Given the description of an element on the screen output the (x, y) to click on. 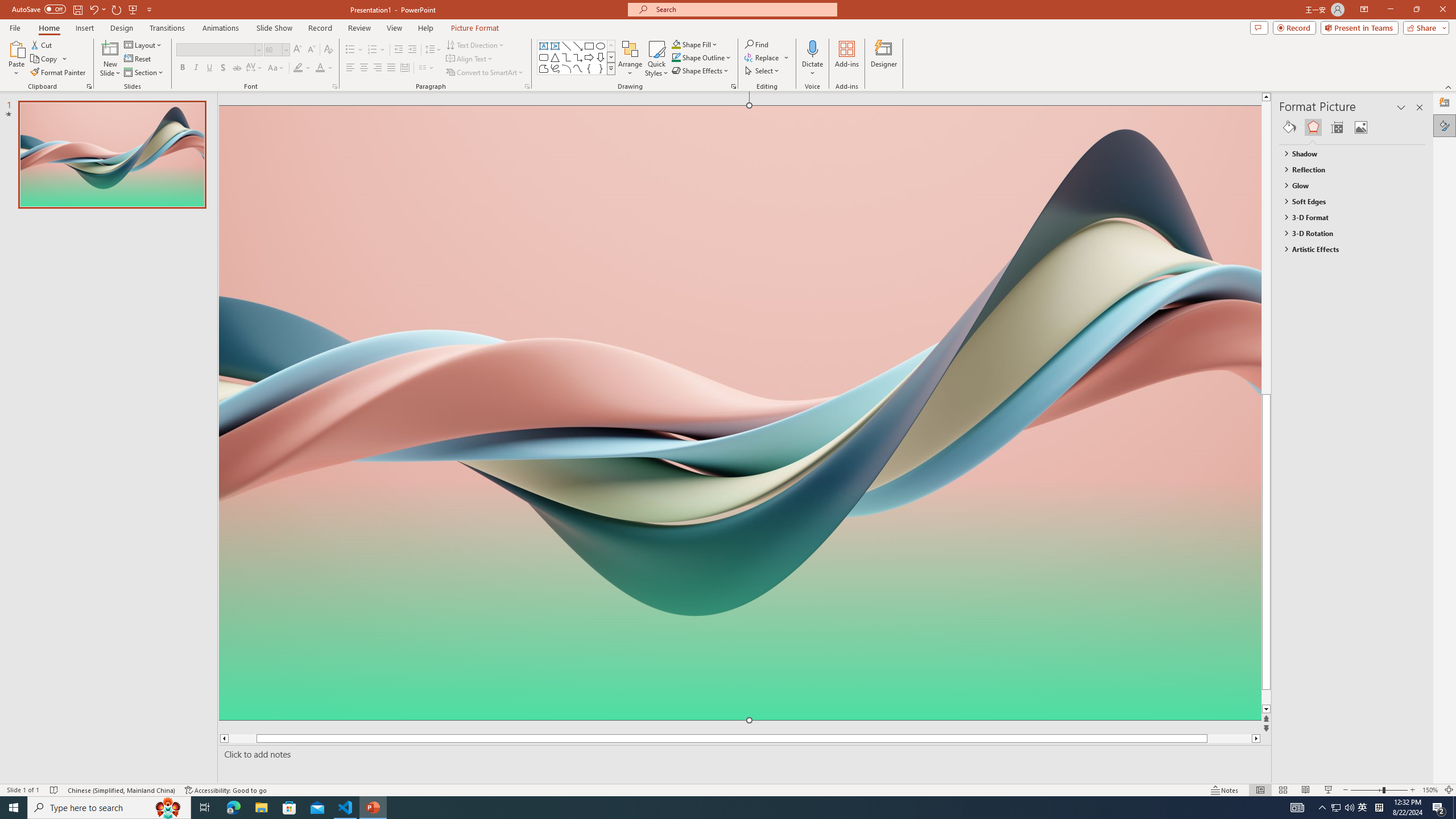
Paragraph... (526, 85)
Increase Font Size (297, 49)
Review (359, 28)
Transitions (167, 28)
Minimize (1390, 9)
Record (1294, 27)
Soft Edges (1347, 201)
Justify (390, 67)
Zoom In (1412, 790)
Numbering (372, 49)
Font Color (324, 67)
Designer (883, 58)
Size & Properties (1336, 126)
Quick Styles (656, 58)
